Given the description of an element on the screen output the (x, y) to click on. 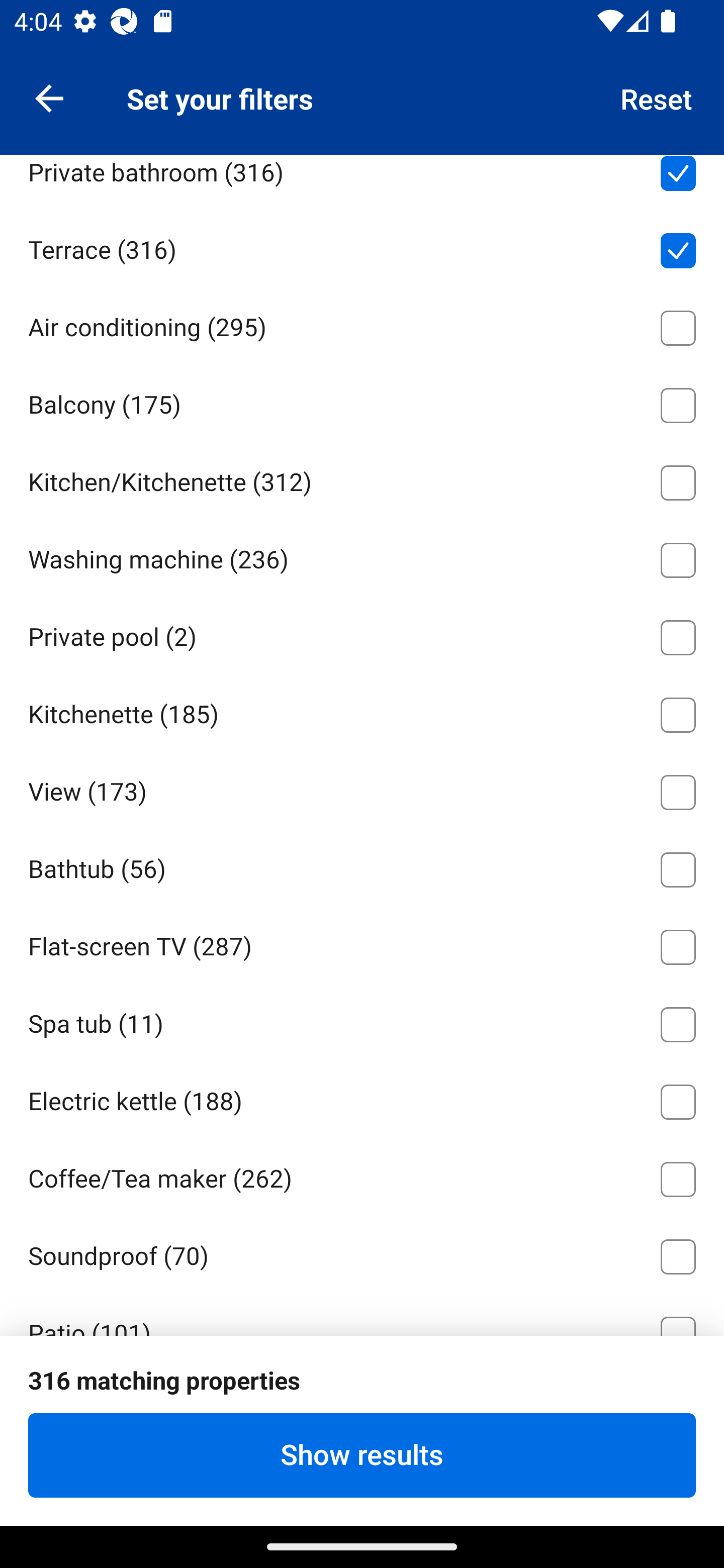
Navigate up (49, 97)
Reset (656, 97)
Private bathroom ⁦(316) (361, 181)
Terrace ⁦(316) (361, 246)
Air conditioning ⁦(295) (361, 324)
Balcony ⁦(175) (361, 401)
Kitchen/Kitchenette ⁦(312) (361, 478)
Washing machine ⁦(236) (361, 556)
Private pool ⁦(2) (361, 633)
Kitchenette ⁦(185) (361, 711)
View ⁦(173) (361, 789)
Bathtub ⁦(56) (361, 865)
Flat-screen TV ⁦(287) (361, 943)
Spa tub ⁦(11) (361, 1021)
Electric kettle ⁦(188) (361, 1097)
Coffee/Tea maker ⁦(262) (361, 1175)
Soundproof ⁦(70) (361, 1253)
Show results (361, 1454)
